Given the description of an element on the screen output the (x, y) to click on. 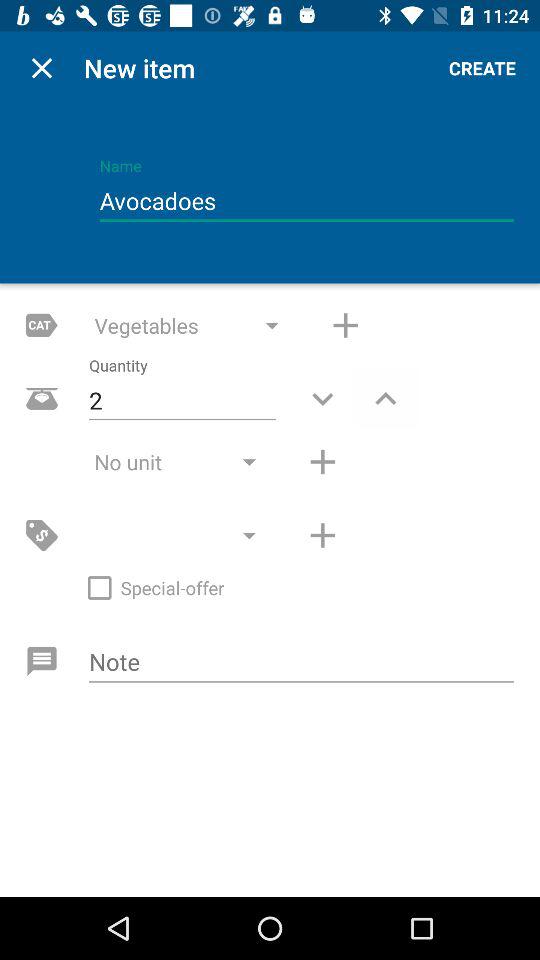
reduce quantity (322, 398)
